Given the description of an element on the screen output the (x, y) to click on. 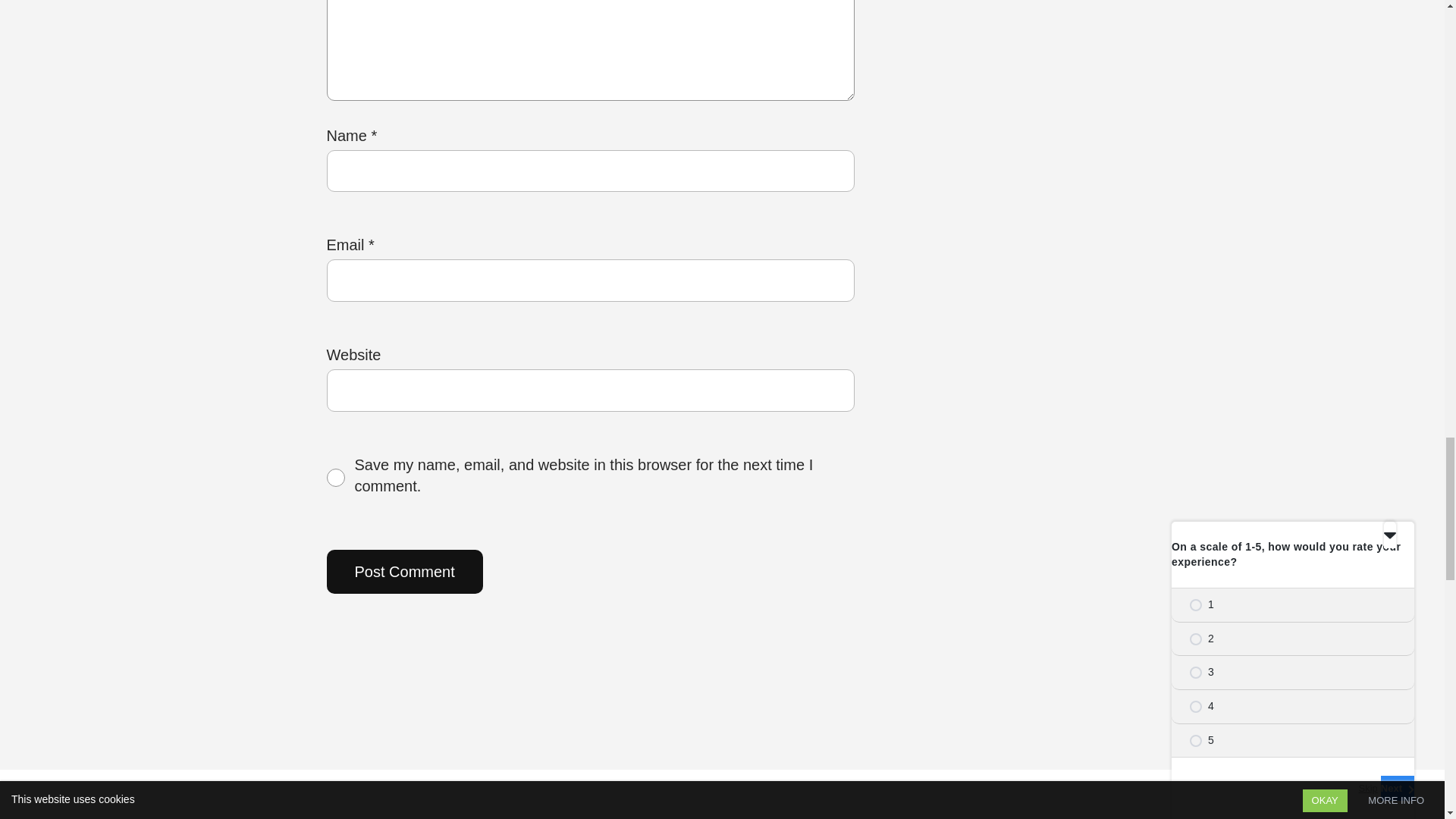
Post Comment (403, 571)
Post Comment (403, 571)
yes (334, 477)
